Given the description of an element on the screen output the (x, y) to click on. 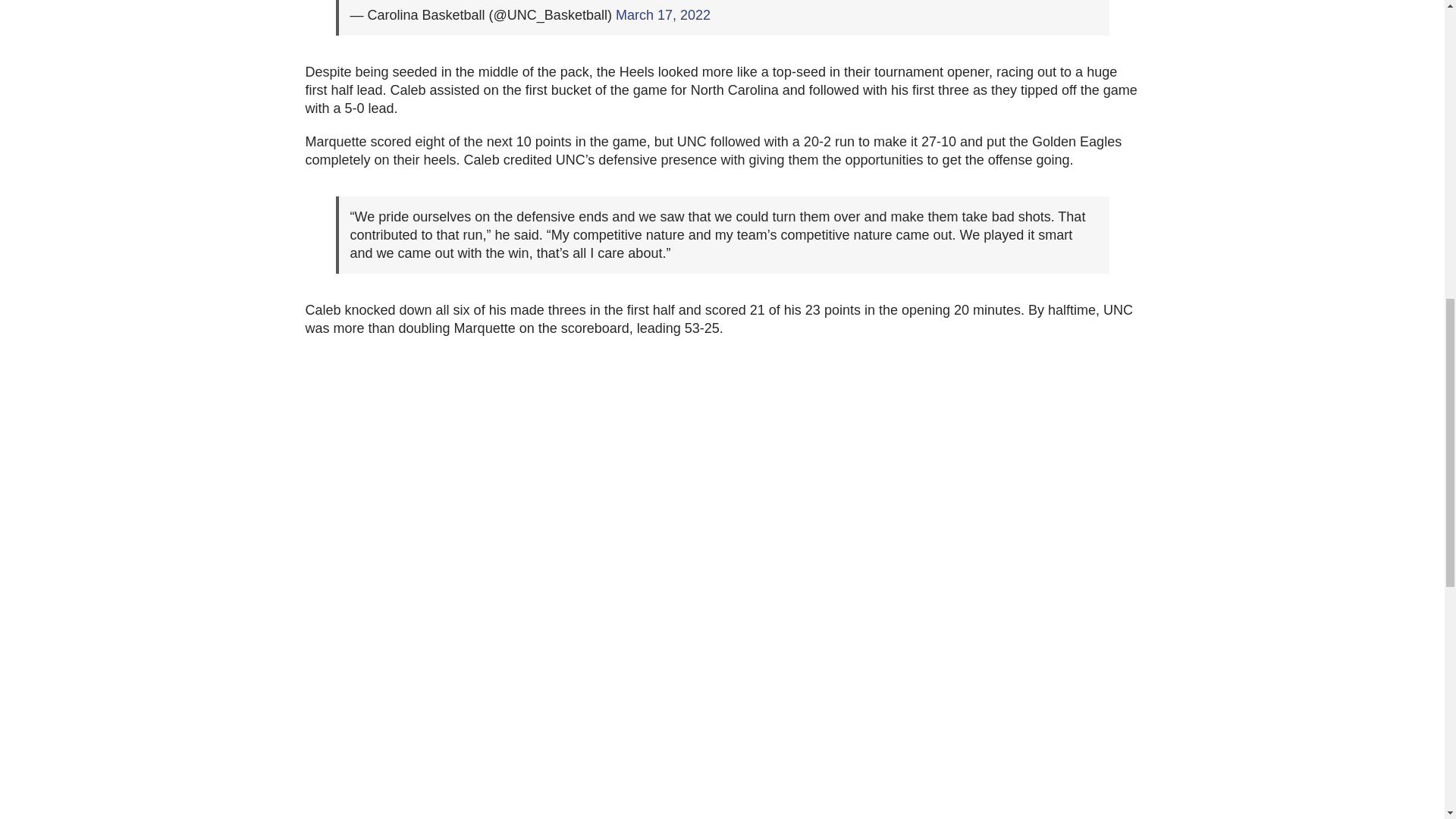
March 17, 2022 (662, 14)
